Given the description of an element on the screen output the (x, y) to click on. 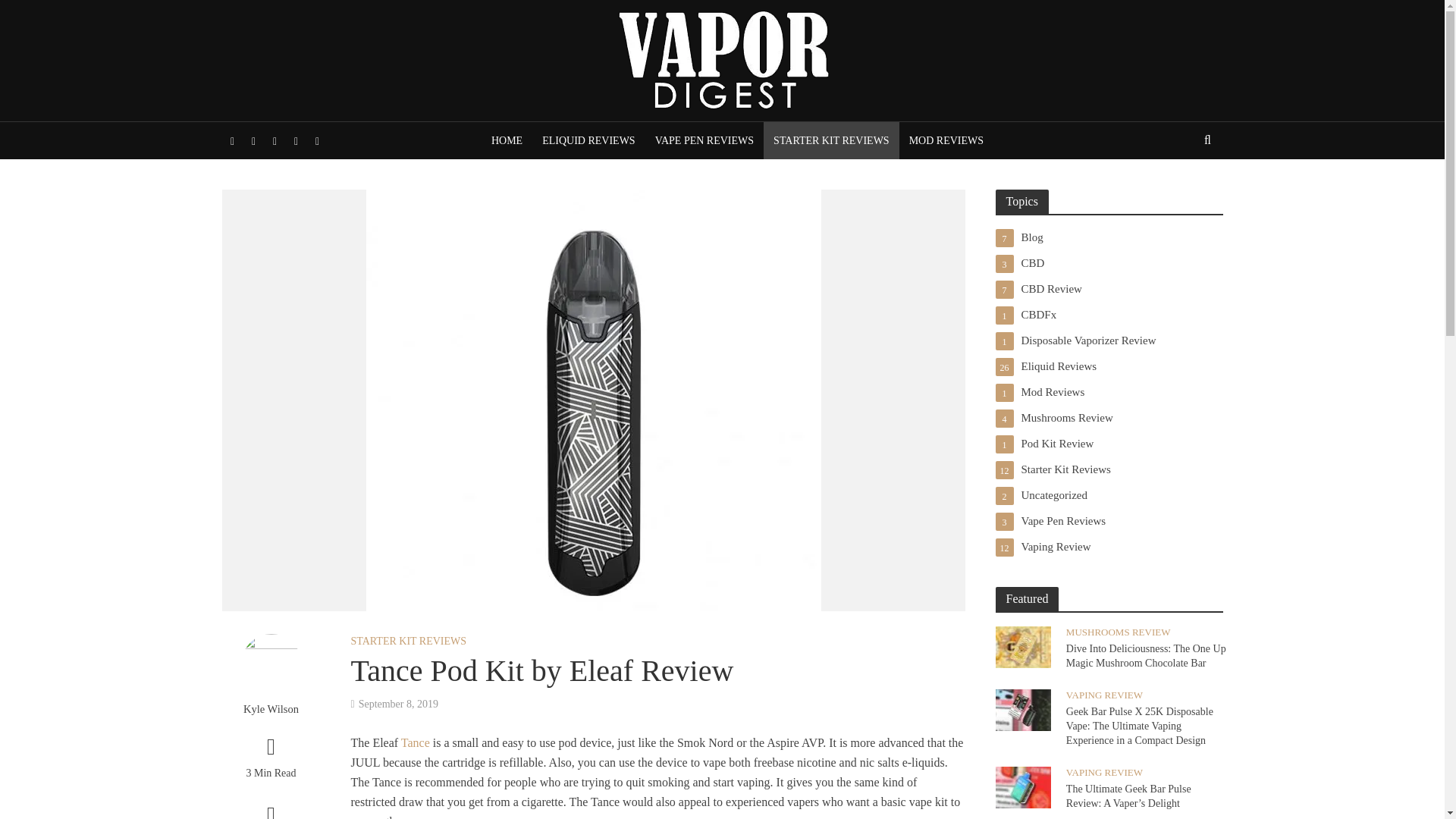
STARTER KIT REVIEWS (830, 140)
Tance (415, 744)
Kyle Wilson (270, 708)
MOD REVIEWS (945, 140)
HOME (506, 140)
VAPE PEN REVIEWS (703, 140)
STARTER KIT REVIEWS (407, 642)
ELIQUID REVIEWS (588, 140)
